Given the description of an element on the screen output the (x, y) to click on. 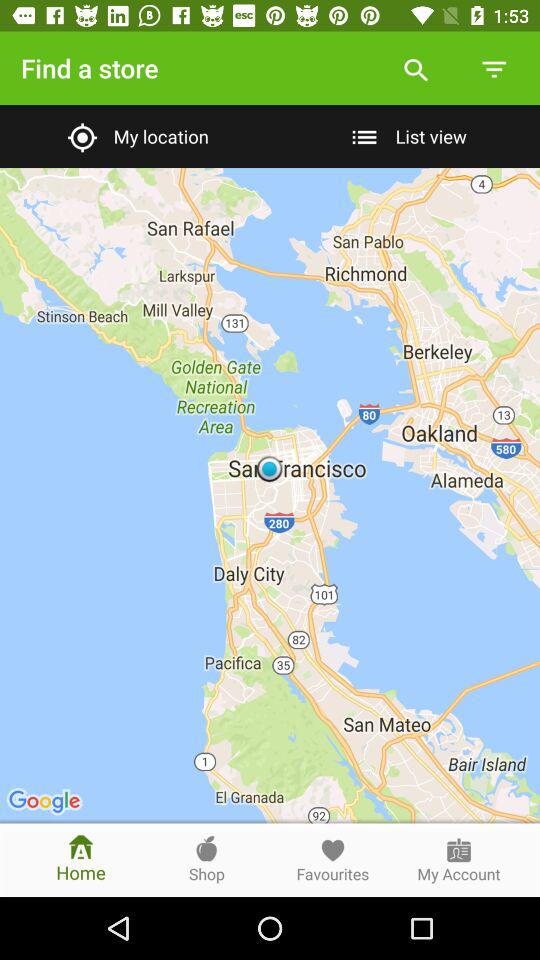
choose the item to the right of find a store icon (415, 67)
